Given the description of an element on the screen output the (x, y) to click on. 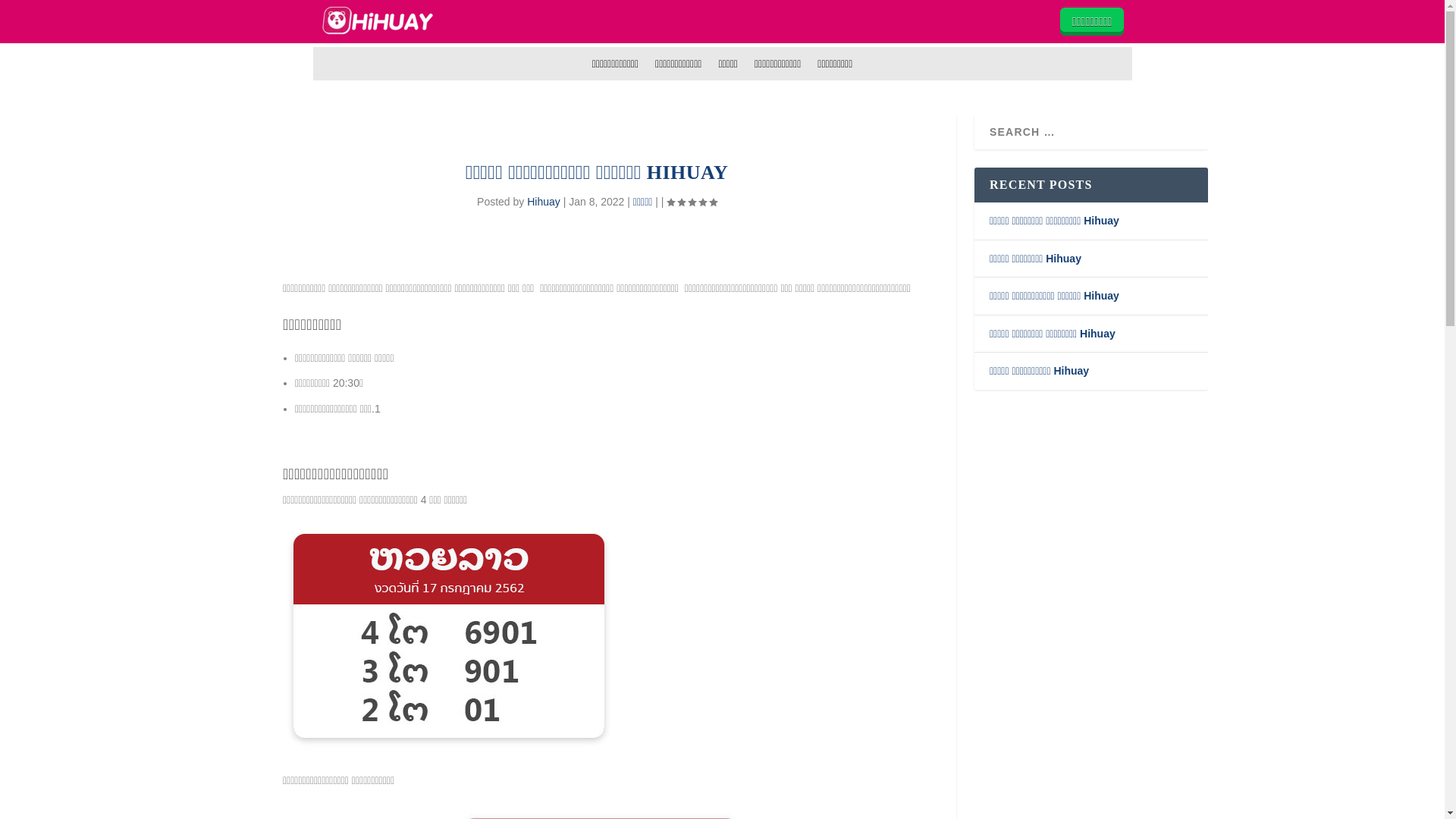
hihuay-logo Element type: hover (376, 20)
Hihuay Element type: text (543, 201)
Rating: 5.00 Element type: hover (691, 202)
Search Element type: text (31, 13)
